Given the description of an element on the screen output the (x, y) to click on. 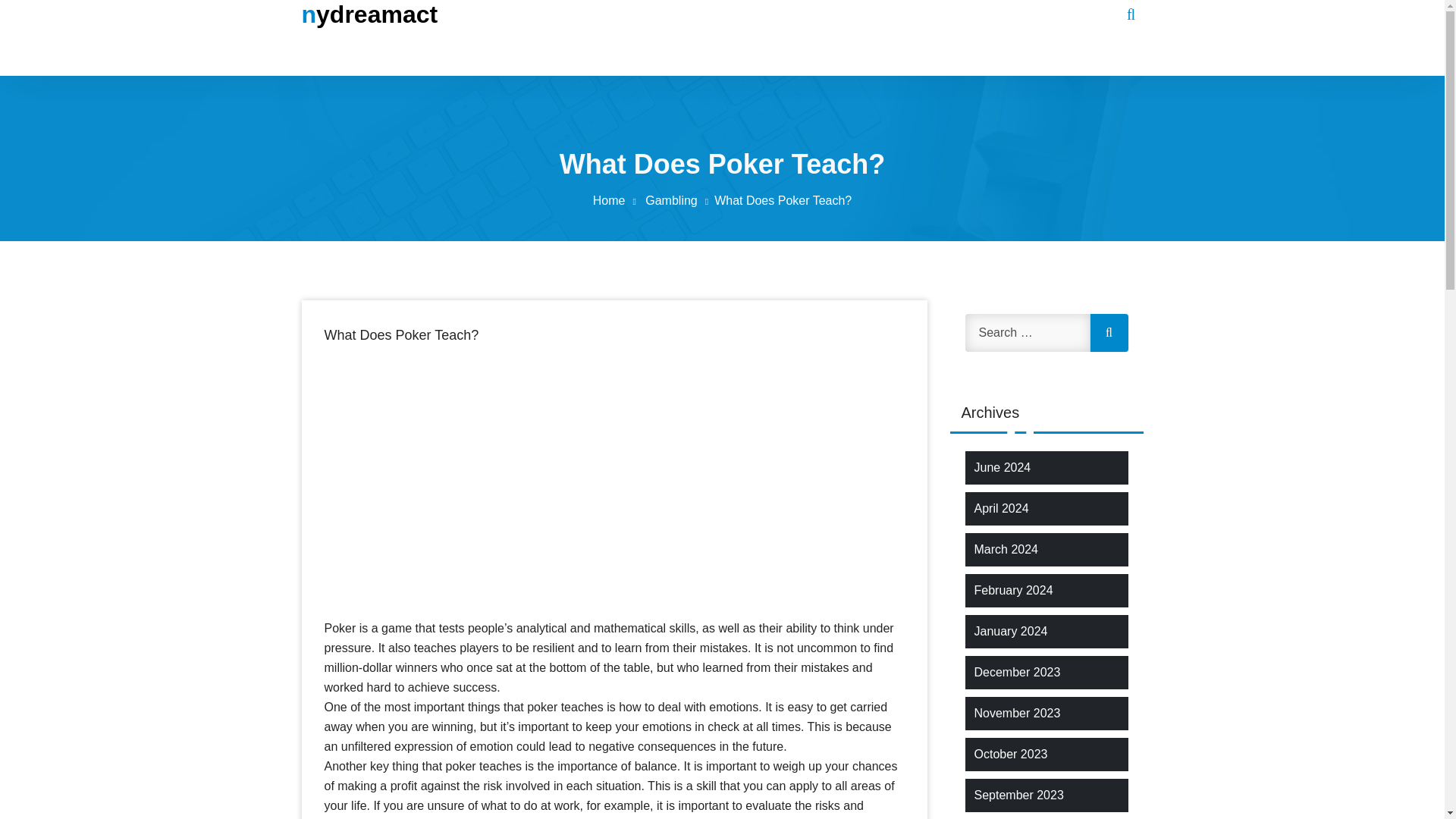
Home (617, 200)
November 2023 (1016, 713)
September 2023 (1018, 795)
January 2024 (1010, 631)
Gambling (679, 200)
February 2024 (1013, 590)
June 2024 (1002, 467)
nydreamact (369, 14)
December 2023 (1016, 672)
March 2024 (1006, 549)
April 2024 (1000, 508)
October 2023 (1010, 754)
